Given the description of an element on the screen output the (x, y) to click on. 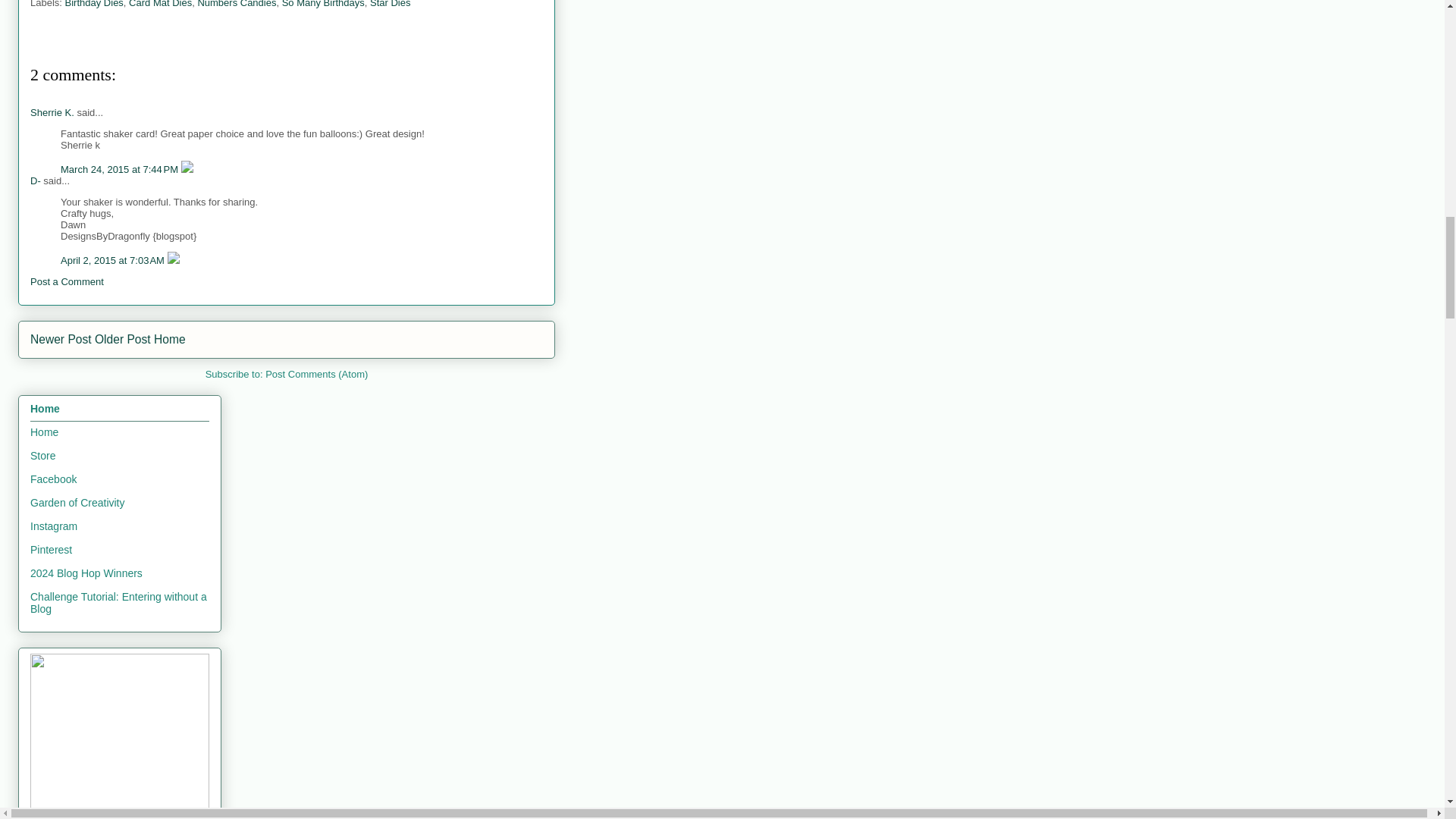
Card Mat Dies (160, 4)
Post a Comment (66, 281)
Home (170, 338)
So Many Birthdays (323, 4)
comment permalink (120, 169)
Star Dies (389, 4)
Delete Comment (186, 169)
Newer Post (60, 338)
Newer Post (60, 338)
comment permalink (114, 260)
Birthday Dies (94, 4)
Sherrie K. (52, 112)
Home (44, 431)
